Given the description of an element on the screen output the (x, y) to click on. 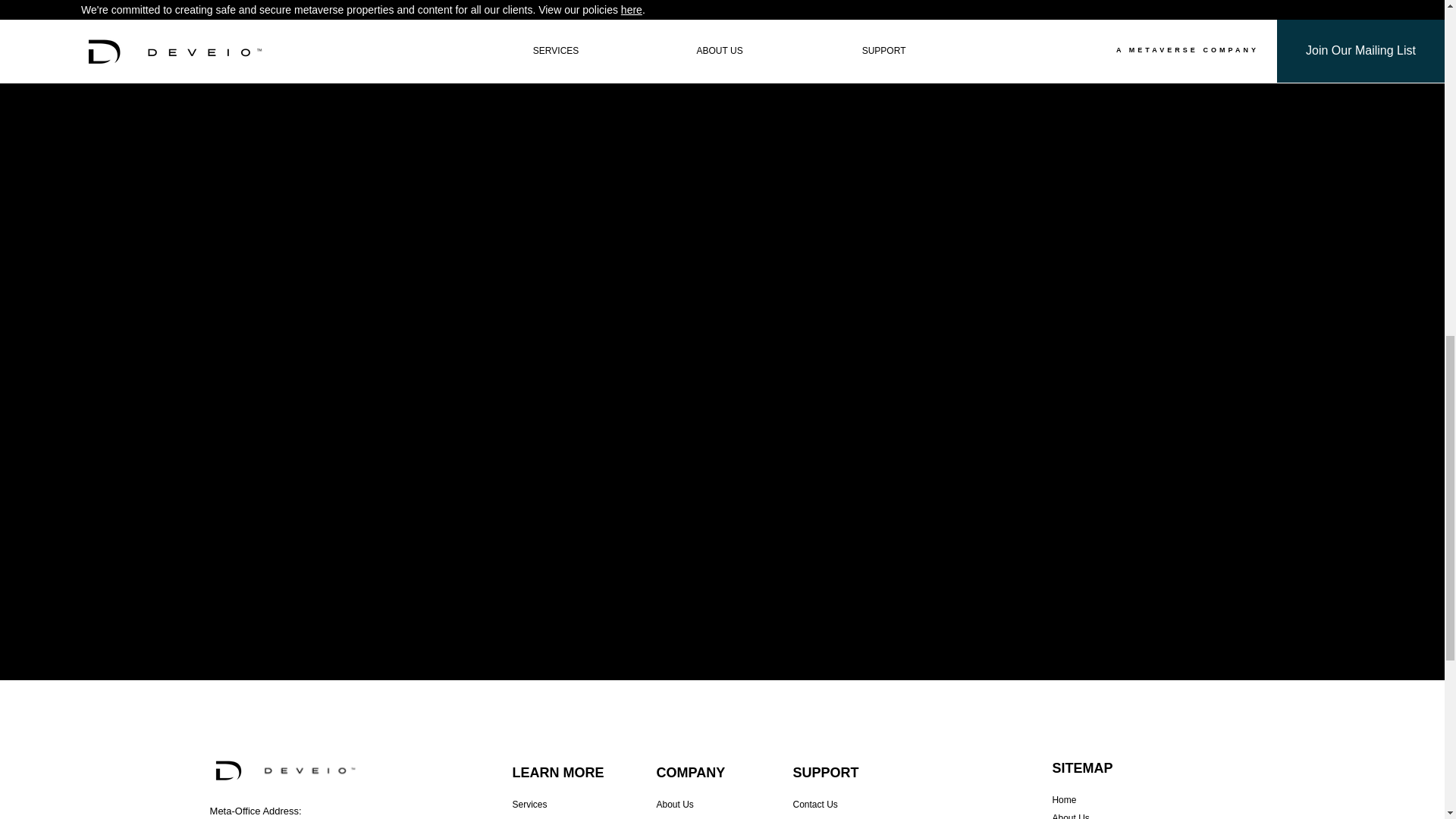
Contact Us (815, 804)
Home (1063, 799)
Careers (672, 818)
Services (529, 804)
Investor Relations (829, 818)
About Us (675, 804)
About Us (1070, 816)
